Given the description of an element on the screen output the (x, y) to click on. 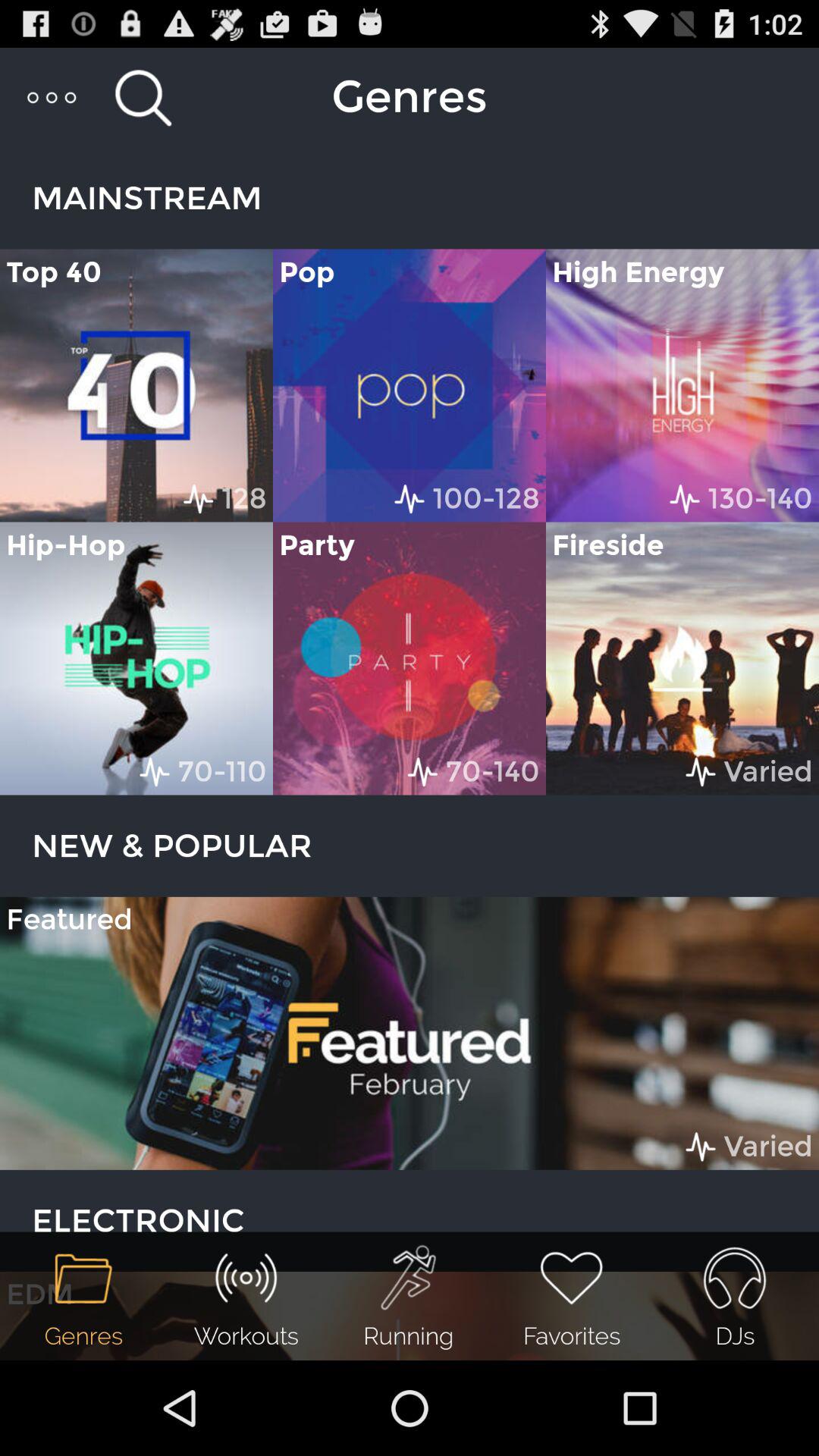
click the icon left to varied in featured image (700, 1146)
select pulse symbol beside 70140 (422, 772)
click on the icon beside genres (143, 96)
click on the icon above workouts (245, 1277)
click on the icon above of genres (83, 1277)
